Given the description of an element on the screen output the (x, y) to click on. 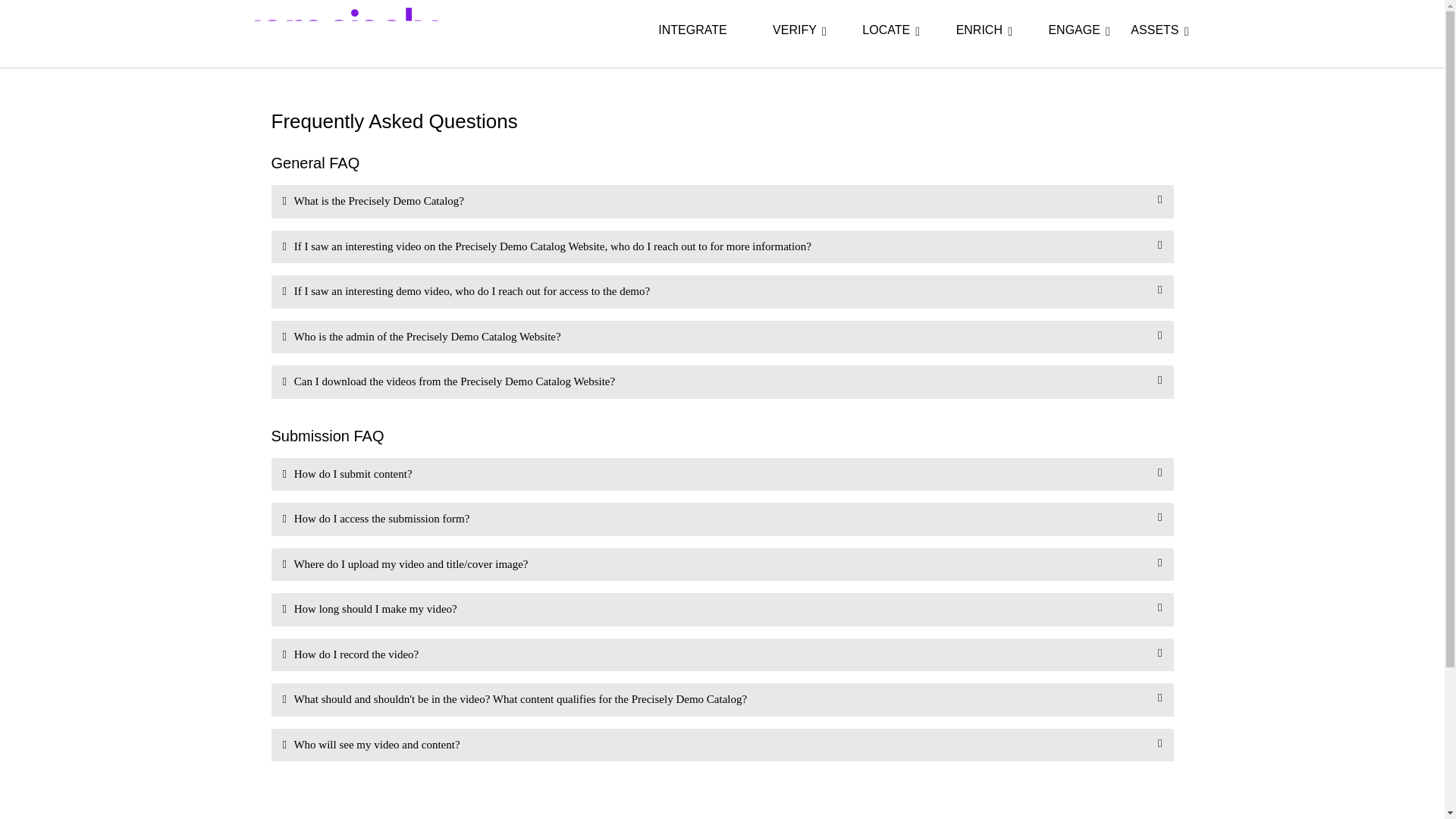
LOCATE (877, 30)
Who is the admin of the Precisely Demo Catalog Website? (721, 337)
ENGAGE (1066, 30)
What is the Precisely Demo Catalog? (721, 201)
ASSETS (1154, 30)
ENRICH (971, 30)
